Given the description of an element on the screen output the (x, y) to click on. 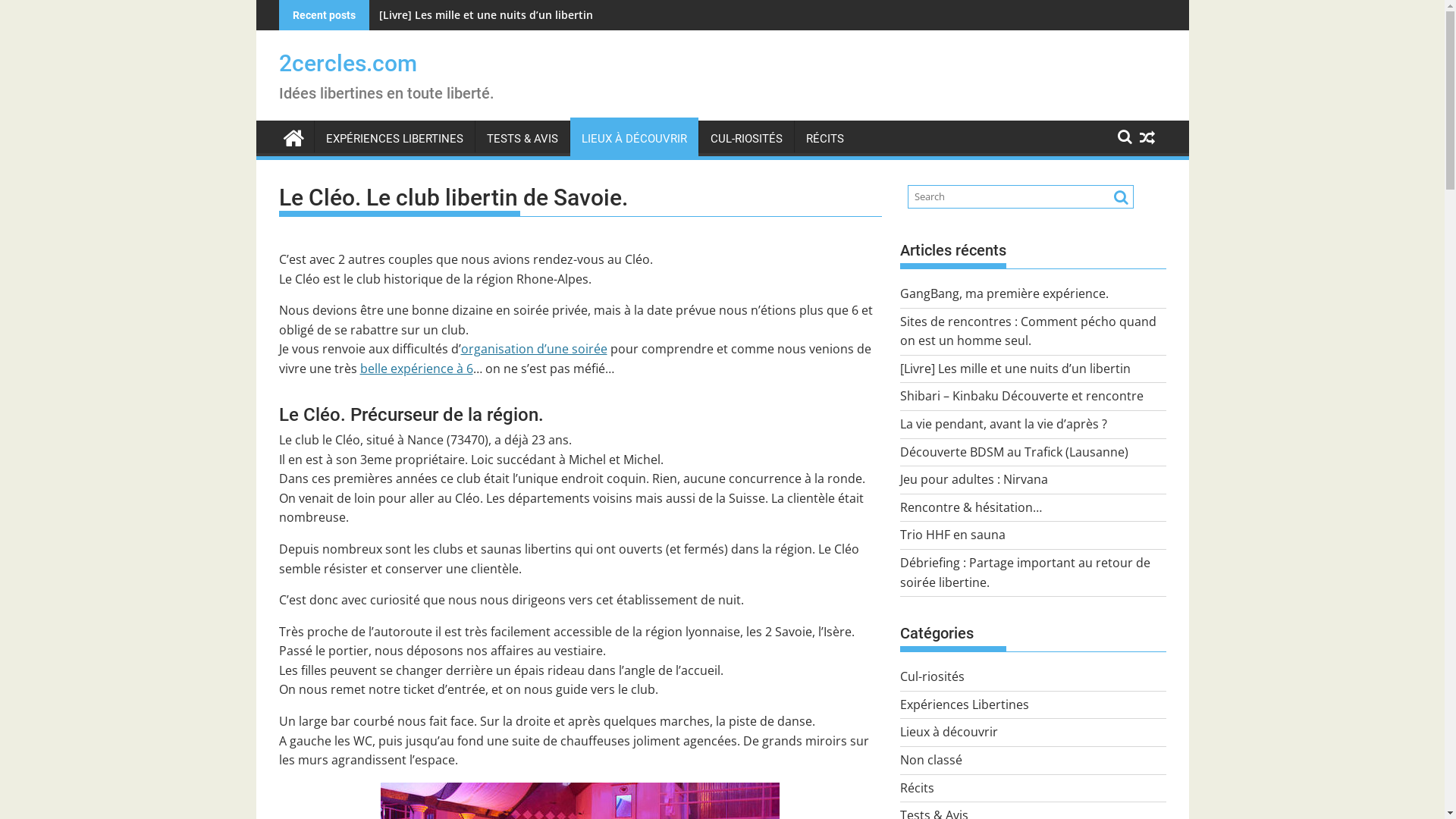
TESTS & AVIS Element type: text (521, 138)
Jeu pour adultes : Nirvana Element type: text (973, 478)
2cercles.com Element type: hover (293, 135)
2cercles.com Element type: text (348, 63)
Trio HHF en sauna Element type: text (951, 534)
